Given the description of an element on the screen output the (x, y) to click on. 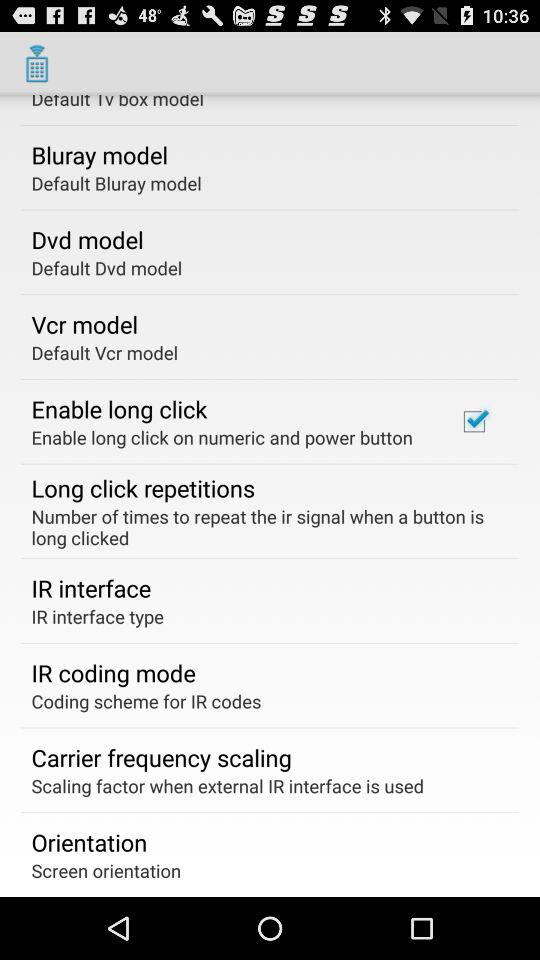
tap checkbox on the right (474, 421)
